Given the description of an element on the screen output the (x, y) to click on. 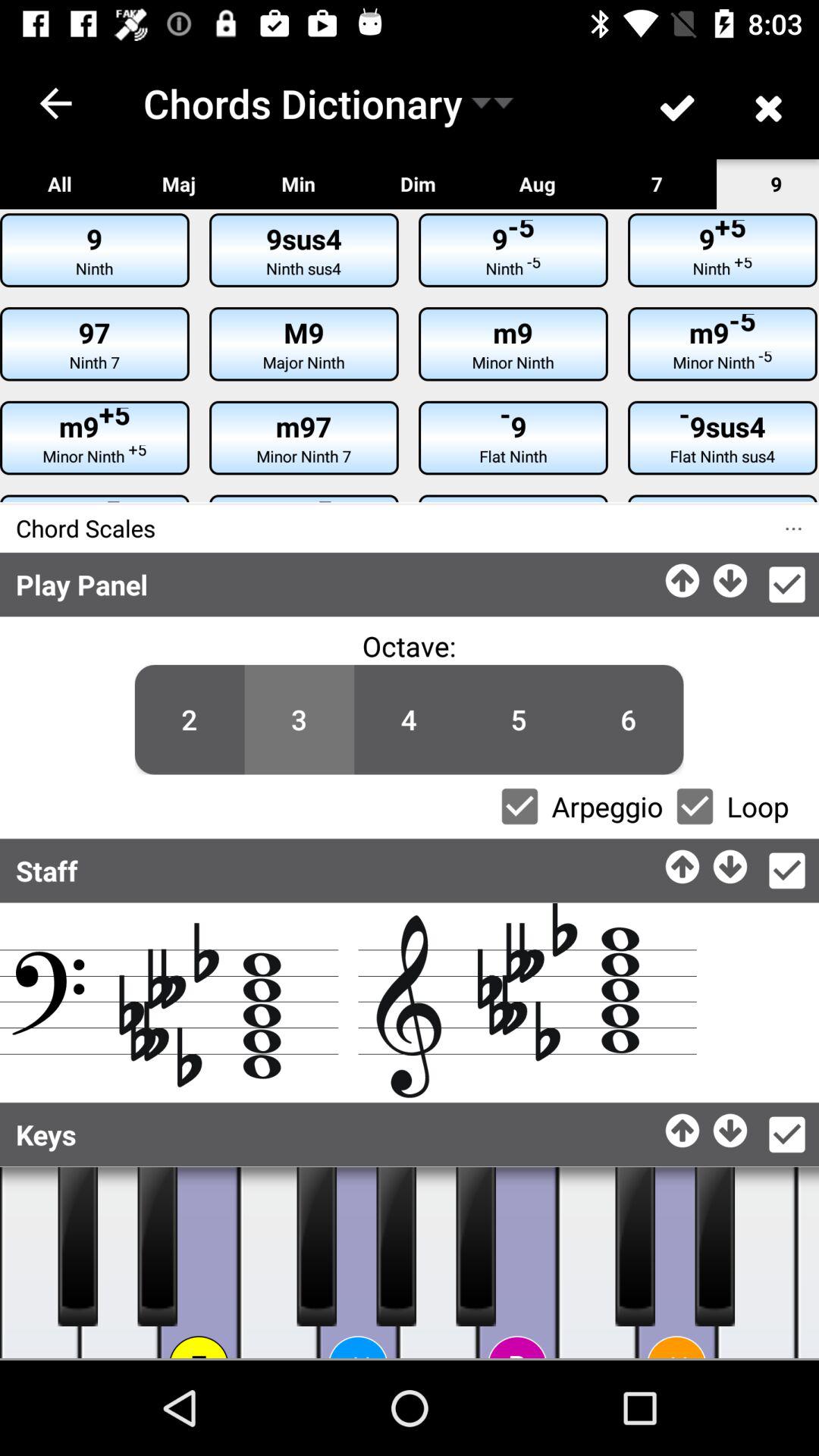
click to pino keys (396, 1246)
